Given the description of an element on the screen output the (x, y) to click on. 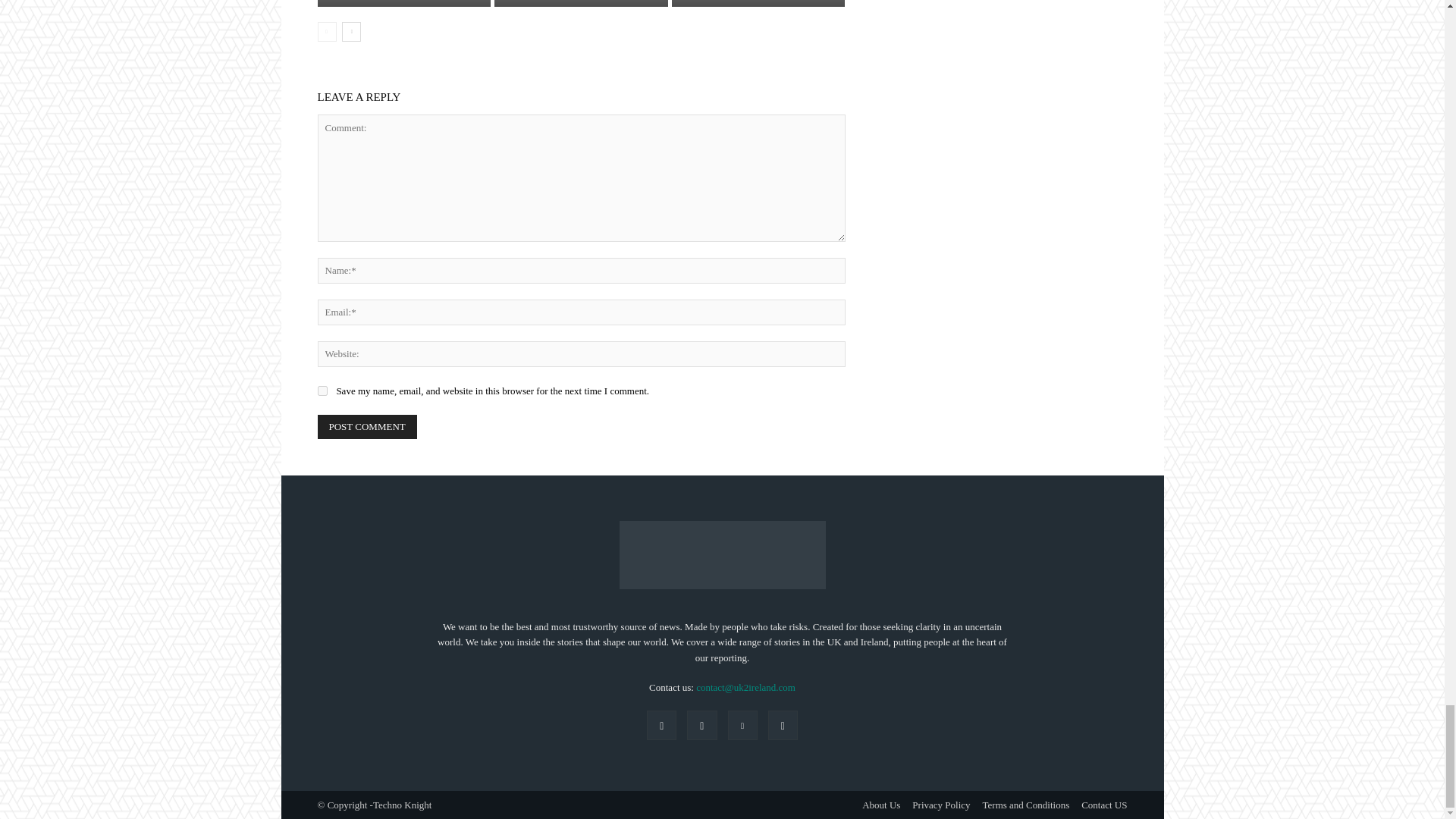
yes (321, 390)
Post Comment (366, 426)
